Given the description of an element on the screen output the (x, y) to click on. 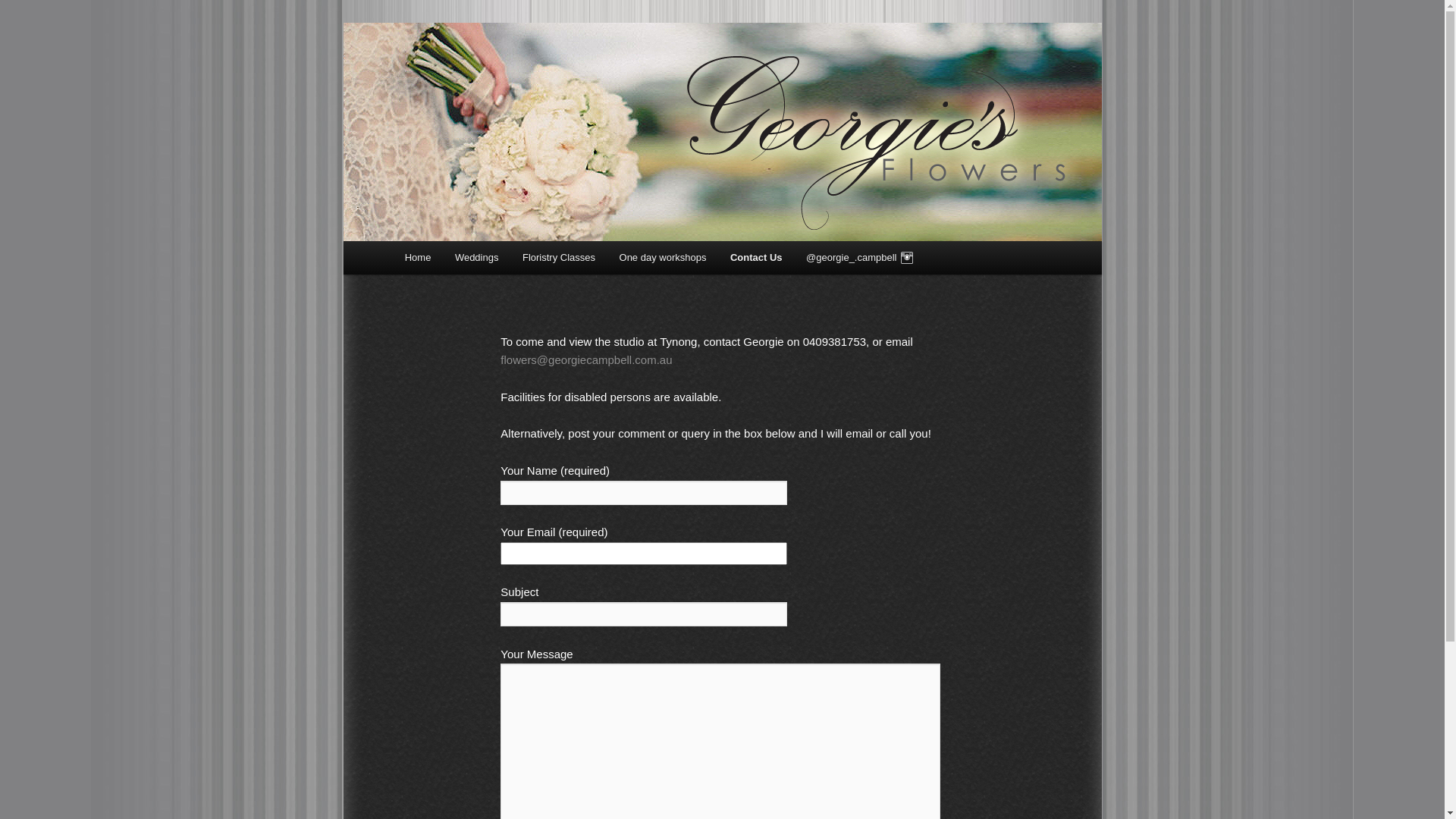
flowers@georgiecampbell.com.au Element type: text (585, 359)
Weddings Element type: text (476, 257)
Home Element type: text (417, 257)
Skip to primary content Element type: text (472, 260)
Contact Us Element type: text (755, 257)
One day workshops Element type: text (662, 257)
@georgie_.campbell Element type: text (859, 257)
Floristry Classes Element type: text (558, 257)
Skip to secondary content Element type: text (479, 260)
